Given the description of an element on the screen output the (x, y) to click on. 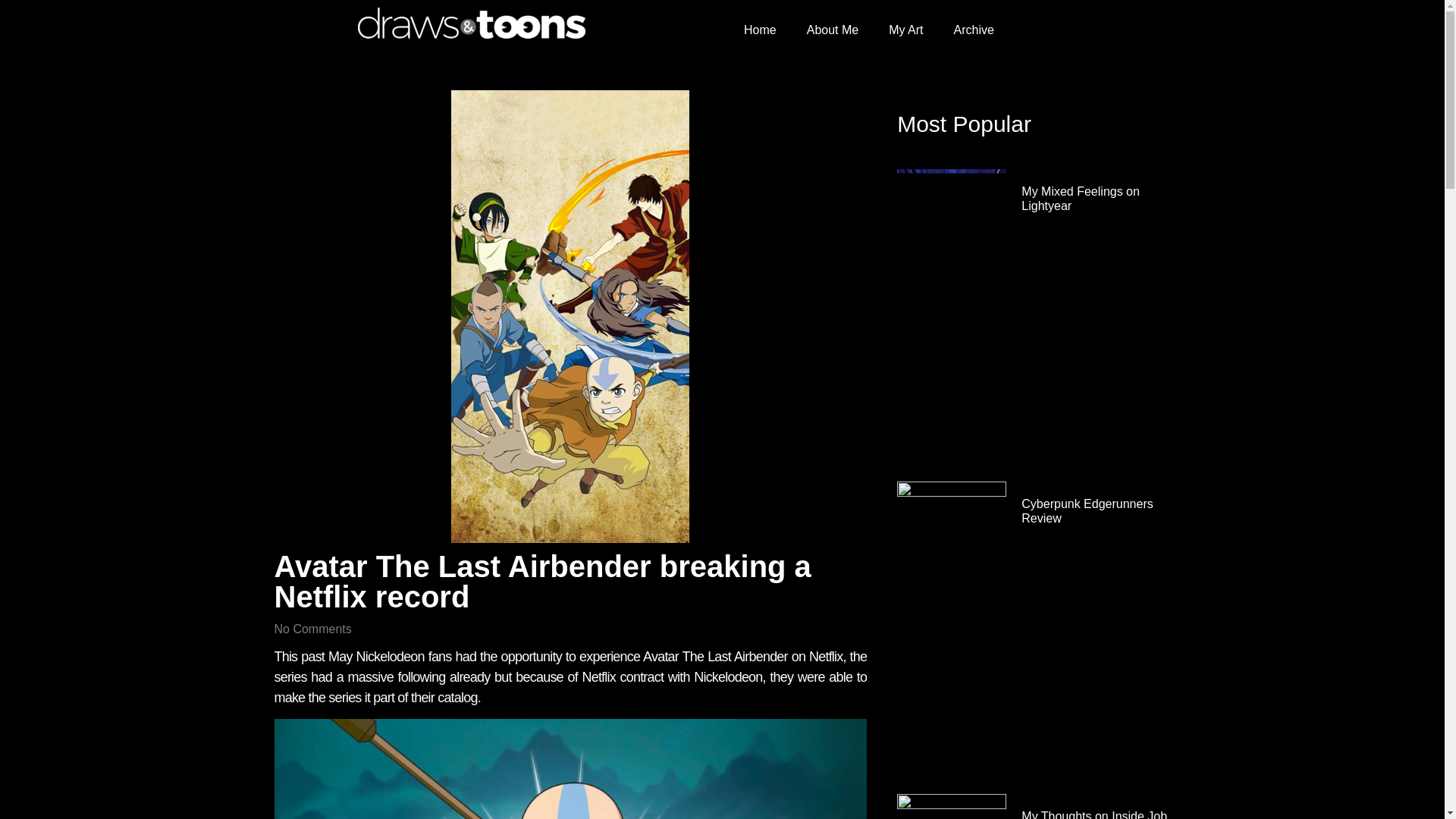
Archive (974, 30)
About Me (832, 30)
No Comments (313, 628)
My Mixed Feelings on Lightyear (1081, 198)
My Thoughts on Inside Job (1094, 814)
Home (760, 30)
Cyberpunk Edgerunners Review (1087, 510)
My Art (905, 30)
